Given the description of an element on the screen output the (x, y) to click on. 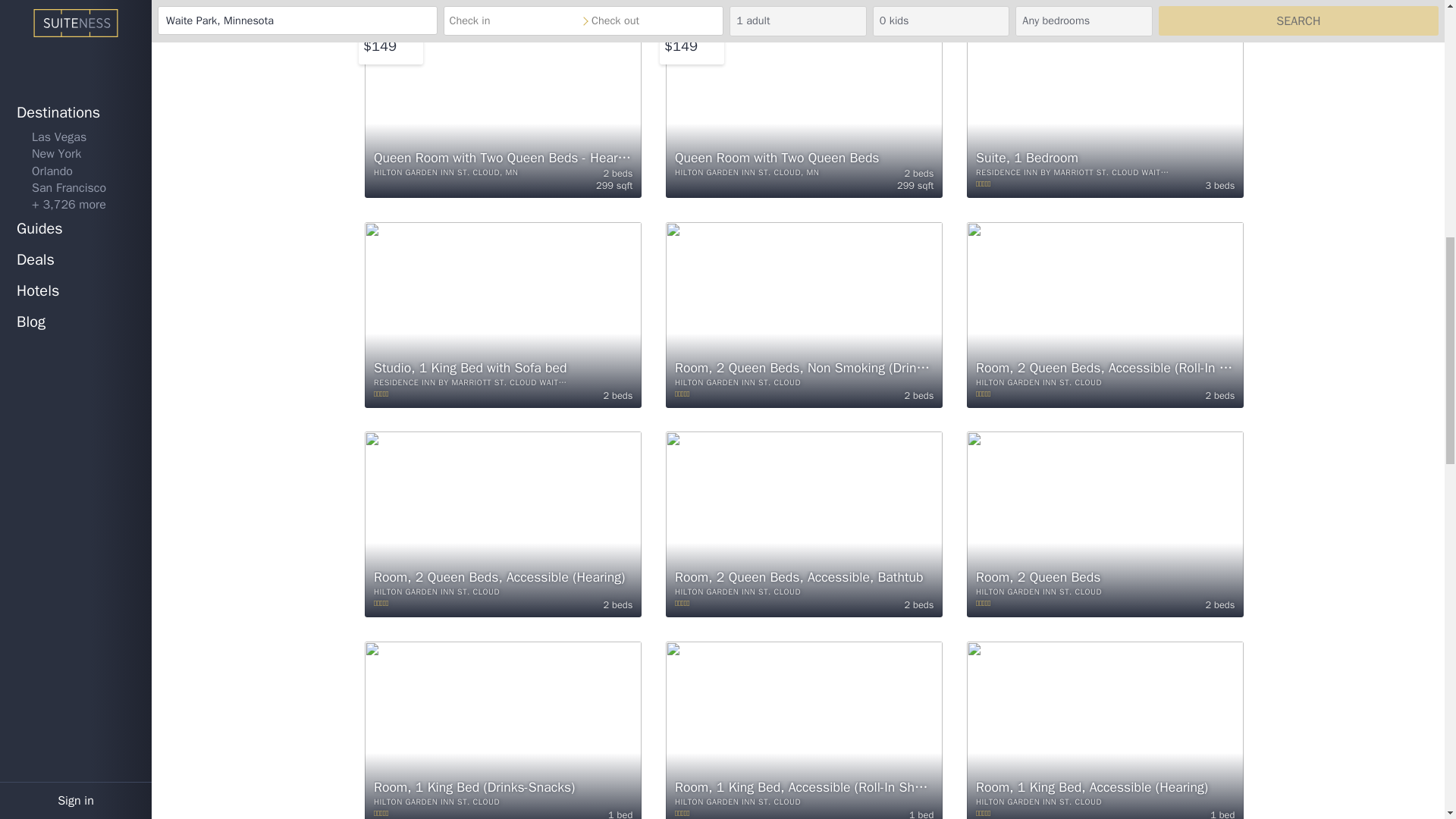
Excludes taxes or fees (691, 29)
Excludes taxes or fees (380, 46)
Excludes taxes or fees (389, 29)
